Given the description of an element on the screen output the (x, y) to click on. 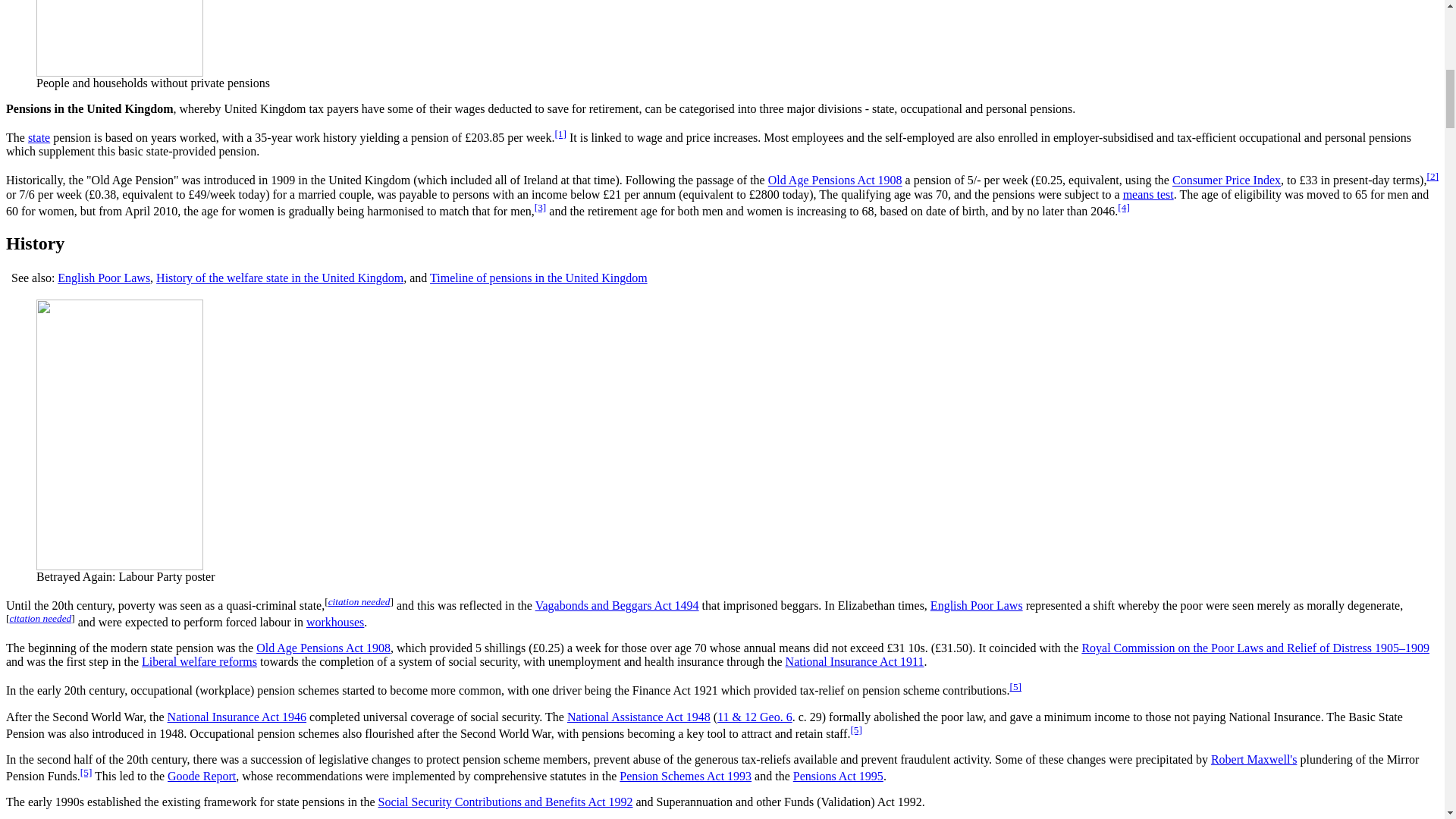
Goode Report (201, 775)
Old Age Pensions Act 1908 (835, 180)
Pension Schemes Act 1993 (685, 775)
National Insurance Act 1911 (855, 661)
Goode Report (201, 775)
Sovereign state (38, 137)
Timeline of pensions in the United Kingdom (538, 277)
means test (1147, 194)
National Assistance Act 1948 (638, 716)
Pensions Act 1995 (838, 775)
History of the welfare state in the United Kingdom (279, 277)
Old Age Pensions Act 1908 (835, 180)
Robert Maxwell (1254, 758)
state (38, 137)
Means test (1147, 194)
